Given the description of an element on the screen output the (x, y) to click on. 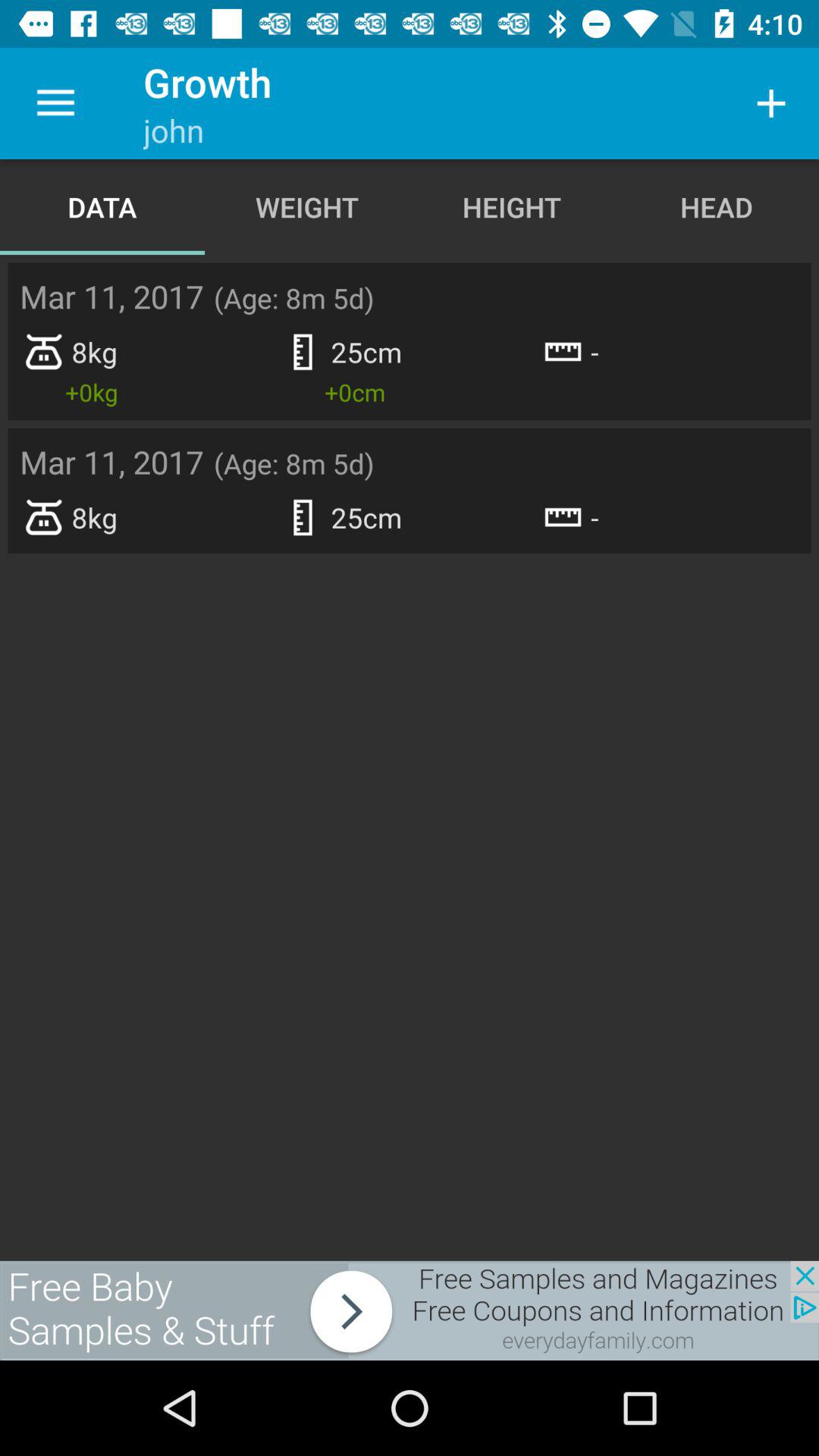
advertisement (409, 1310)
